Given the description of an element on the screen output the (x, y) to click on. 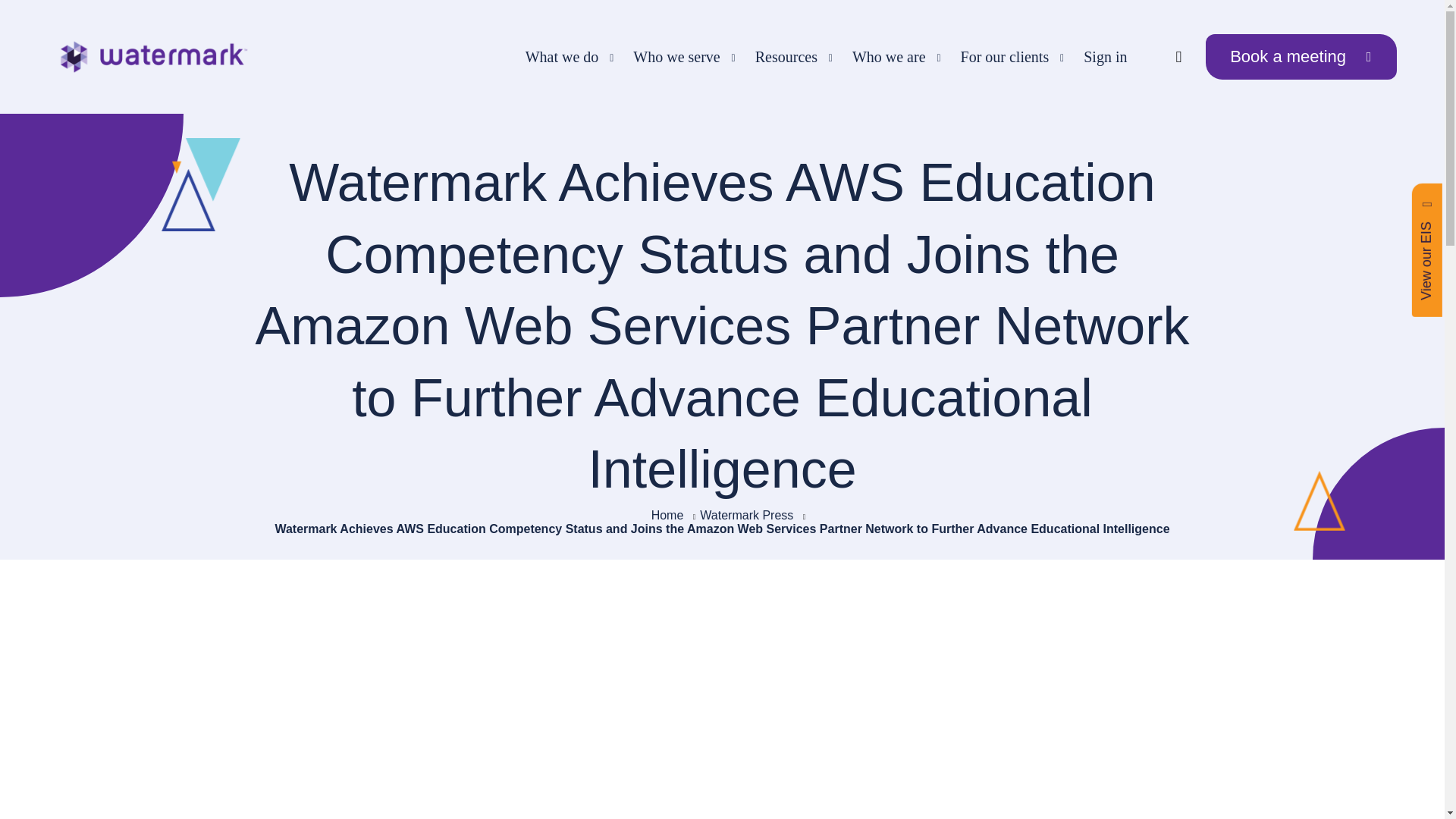
Who we are (890, 56)
What we do (564, 56)
For our clients (1006, 56)
Who we serve (677, 56)
